Given the description of an element on the screen output the (x, y) to click on. 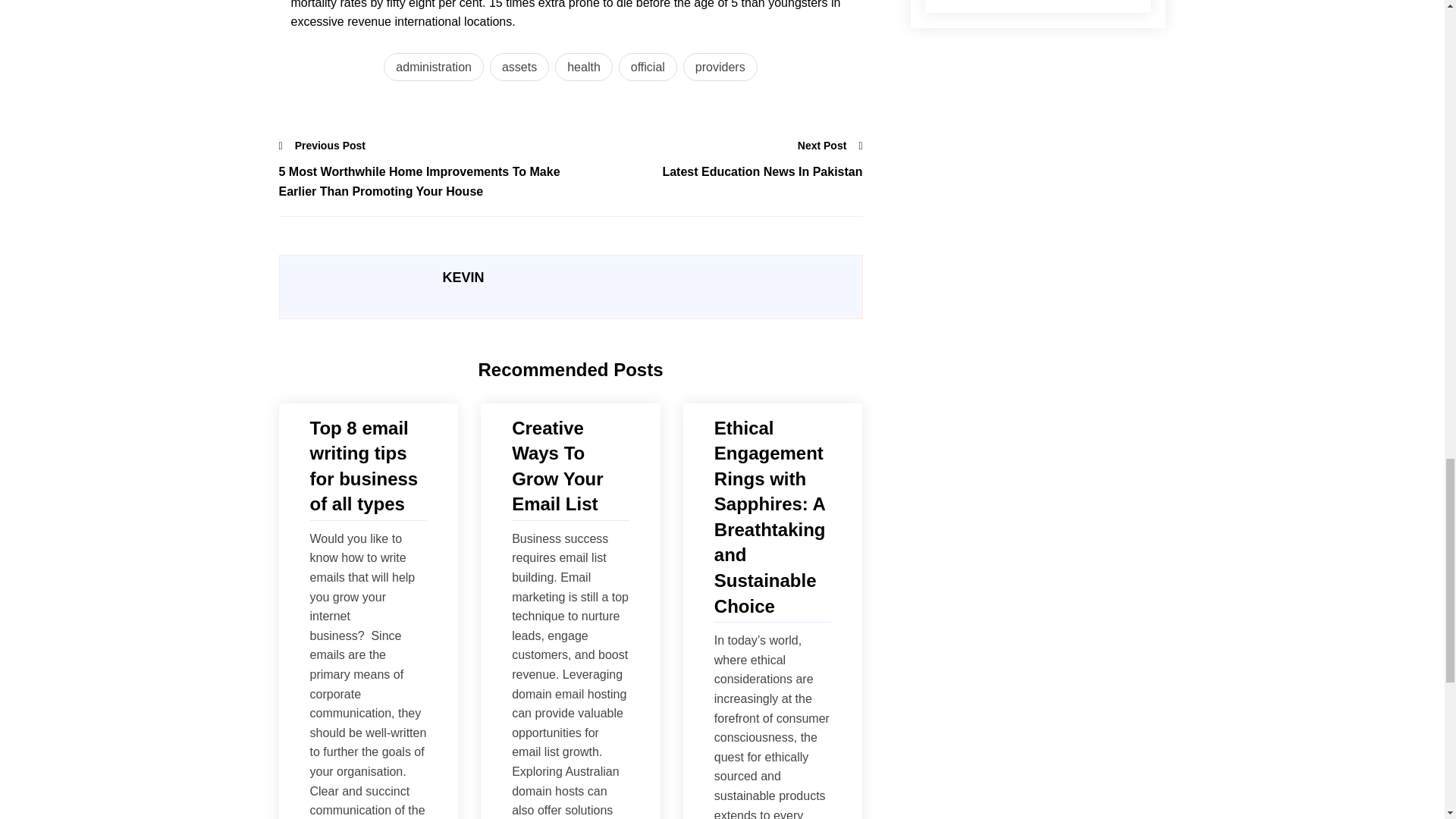
providers (719, 67)
Latest Education News In Pakistan (715, 171)
Top 8 email writing tips for business of all types (367, 465)
administration (433, 67)
assets (518, 67)
Previous Post (322, 145)
official (647, 67)
health (583, 67)
Next Post (830, 145)
Creative Ways To Grow Your Email List (570, 465)
